Given the description of an element on the screen output the (x, y) to click on. 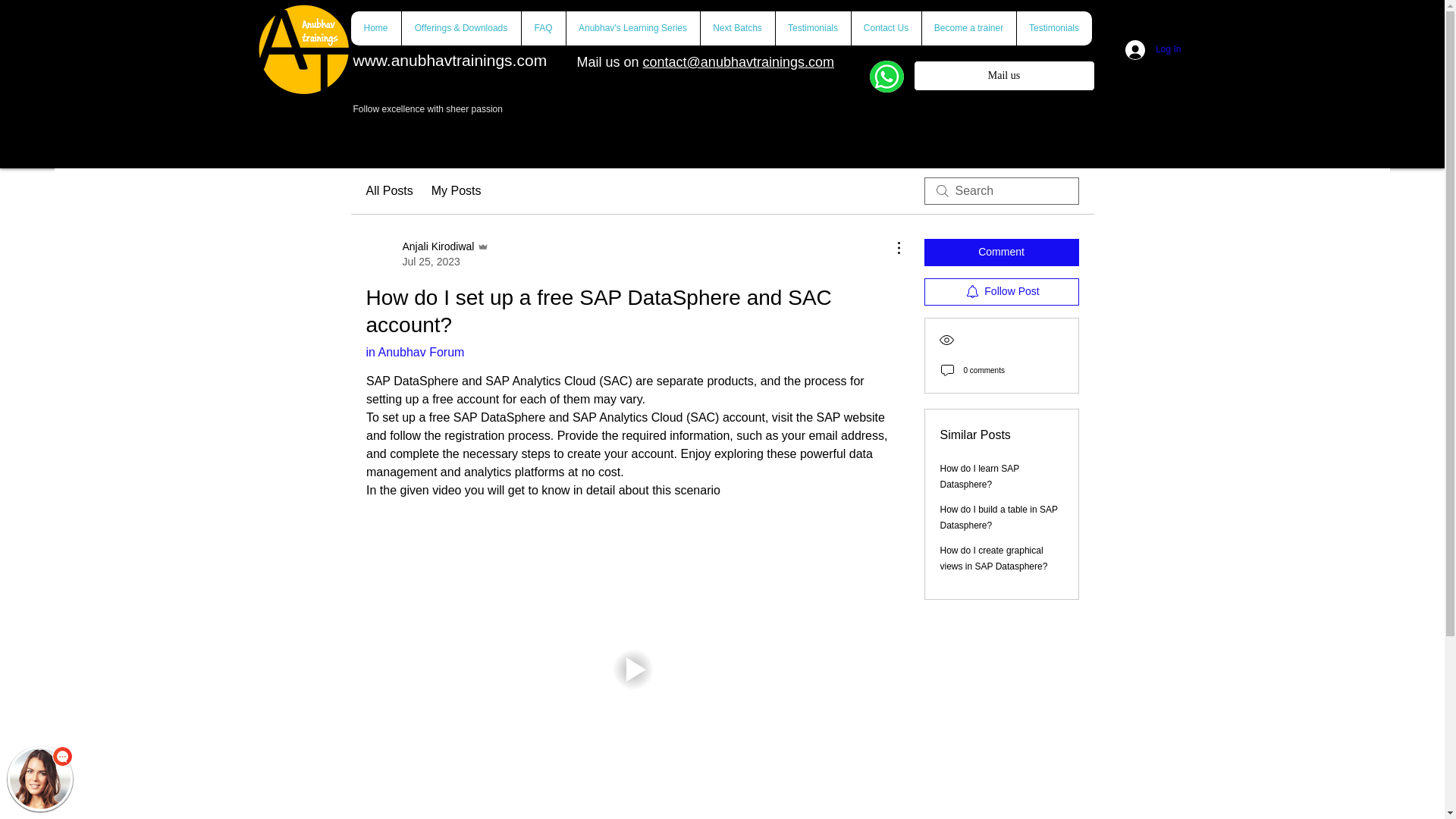
Next Batchs (736, 28)
How do I learn SAP Datasphere? (980, 476)
My Posts (455, 190)
Comment (1000, 252)
Home (375, 28)
FAQ (541, 28)
Become a trainer (427, 254)
Mail us (967, 28)
Log In (1003, 75)
